Given the description of an element on the screen output the (x, y) to click on. 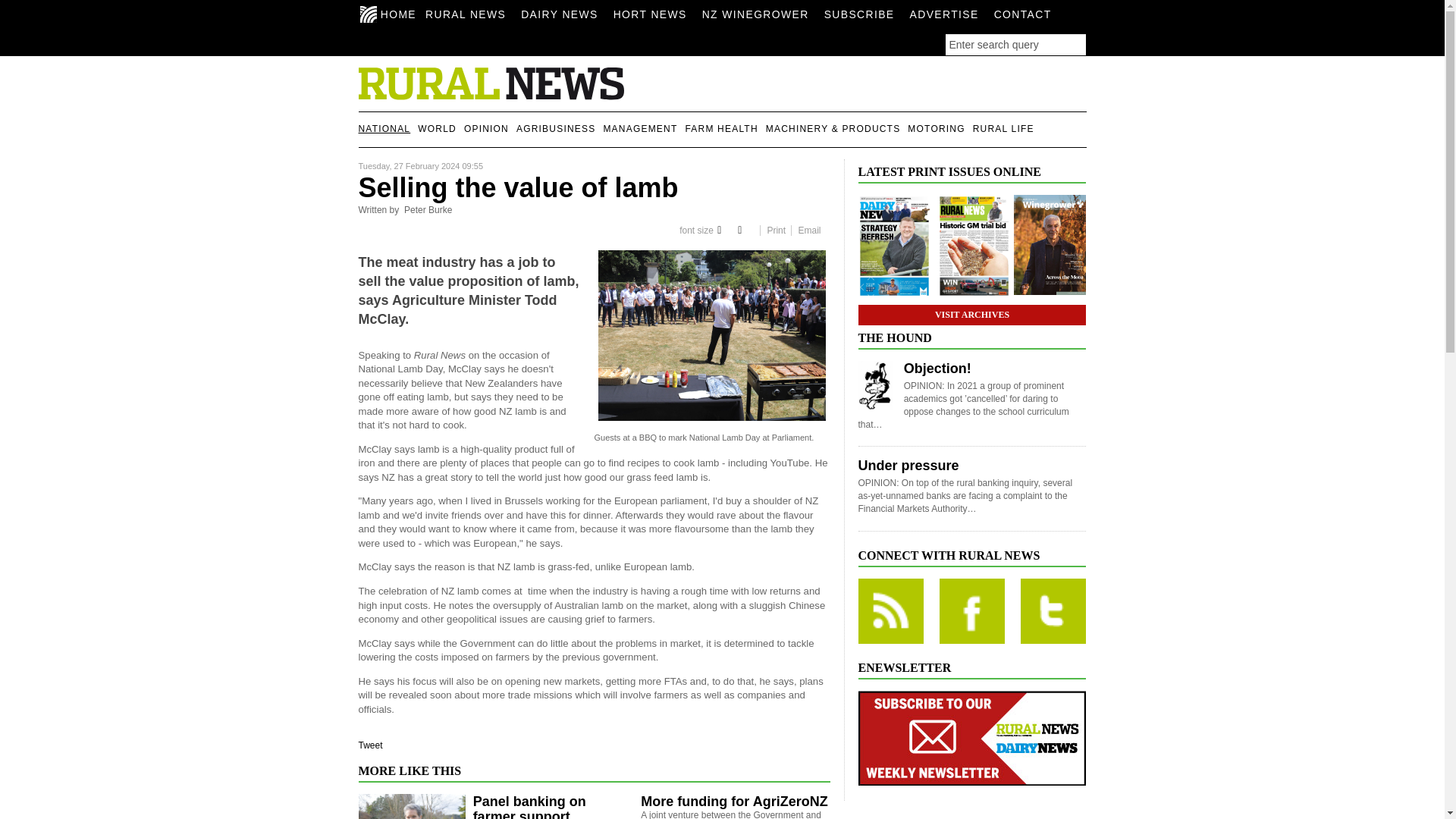
RURAL LIFE (1007, 128)
MANAGEMENT (643, 128)
MOTORING (939, 128)
HOME (391, 11)
CONTACT (1026, 14)
RURAL NEWS (469, 14)
Print (777, 230)
Enter search query (1015, 44)
Tweet (369, 745)
News feed (891, 610)
NZ WINEGROWER (758, 14)
OPINION (490, 128)
More funding for AgriZeroNZ (733, 801)
Email (809, 230)
SUBSCRIBE (863, 14)
